Given the description of an element on the screen output the (x, y) to click on. 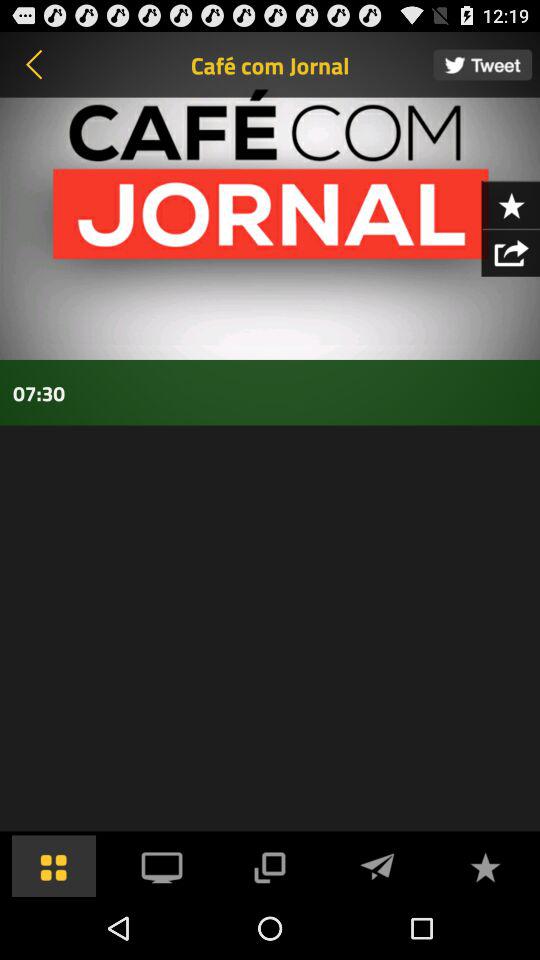
share the program in twitter (482, 64)
